Given the description of an element on the screen output the (x, y) to click on. 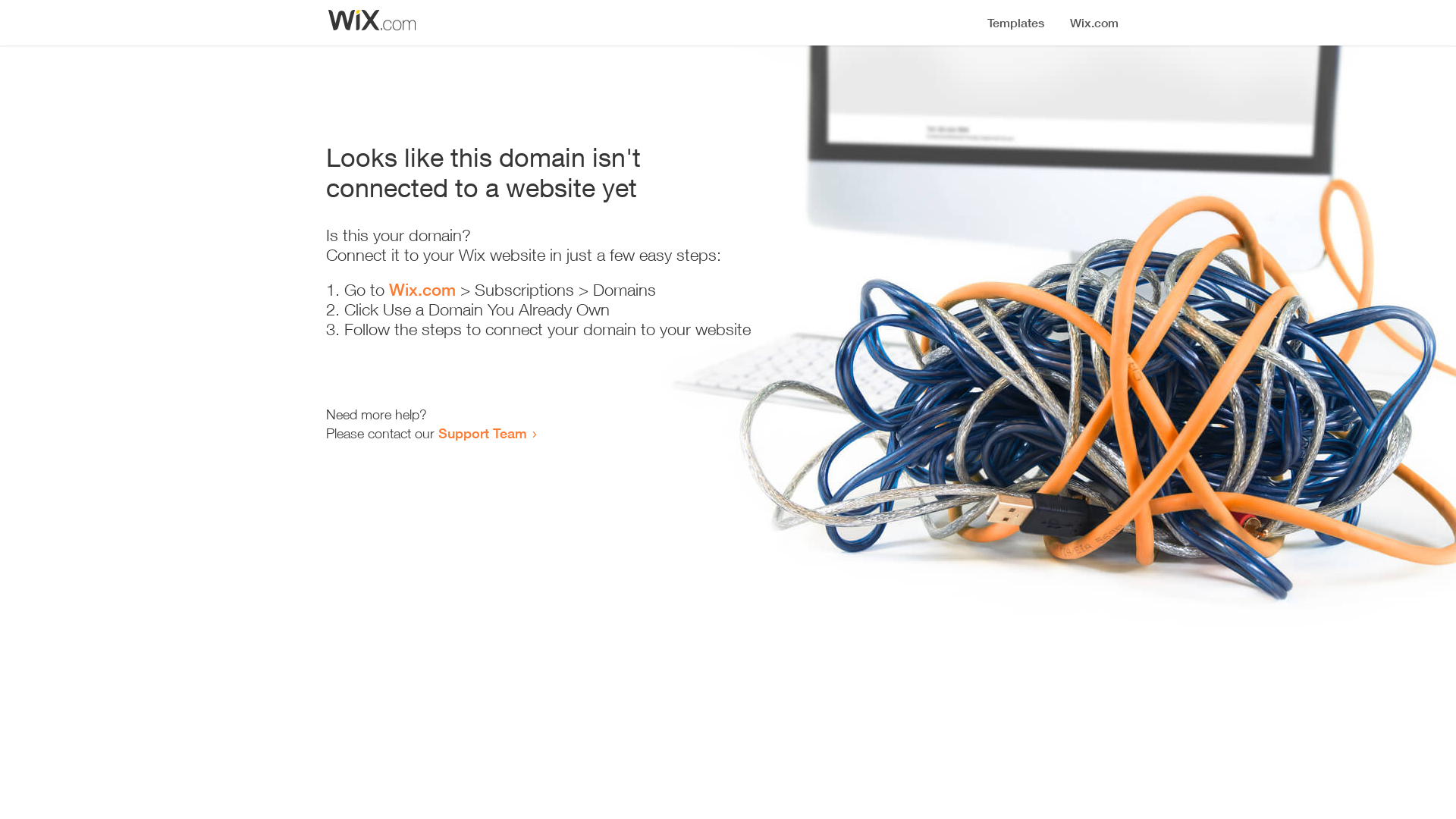
Support Team Element type: text (482, 432)
Wix.com Element type: text (422, 289)
